Given the description of an element on the screen output the (x, y) to click on. 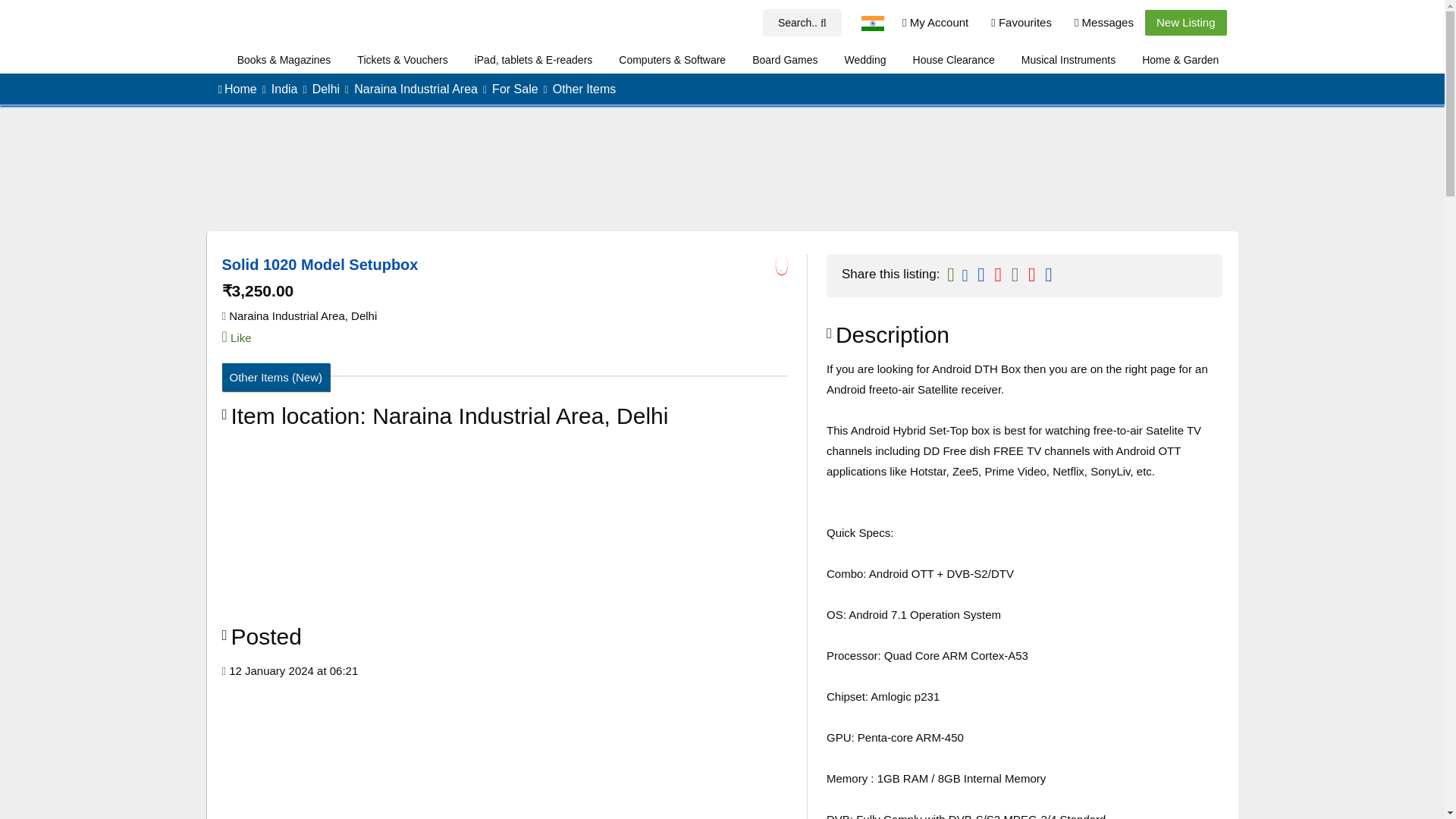
NomTimes logo (225, 23)
Favourites (1020, 22)
House Clearance (953, 60)
Board Games (784, 60)
 My Account (935, 22)
Wedding (865, 60)
Other Items (584, 88)
Delhi (326, 88)
Search NomTimes (802, 22)
Post new listing (1185, 22)
